Given the description of an element on the screen output the (x, y) to click on. 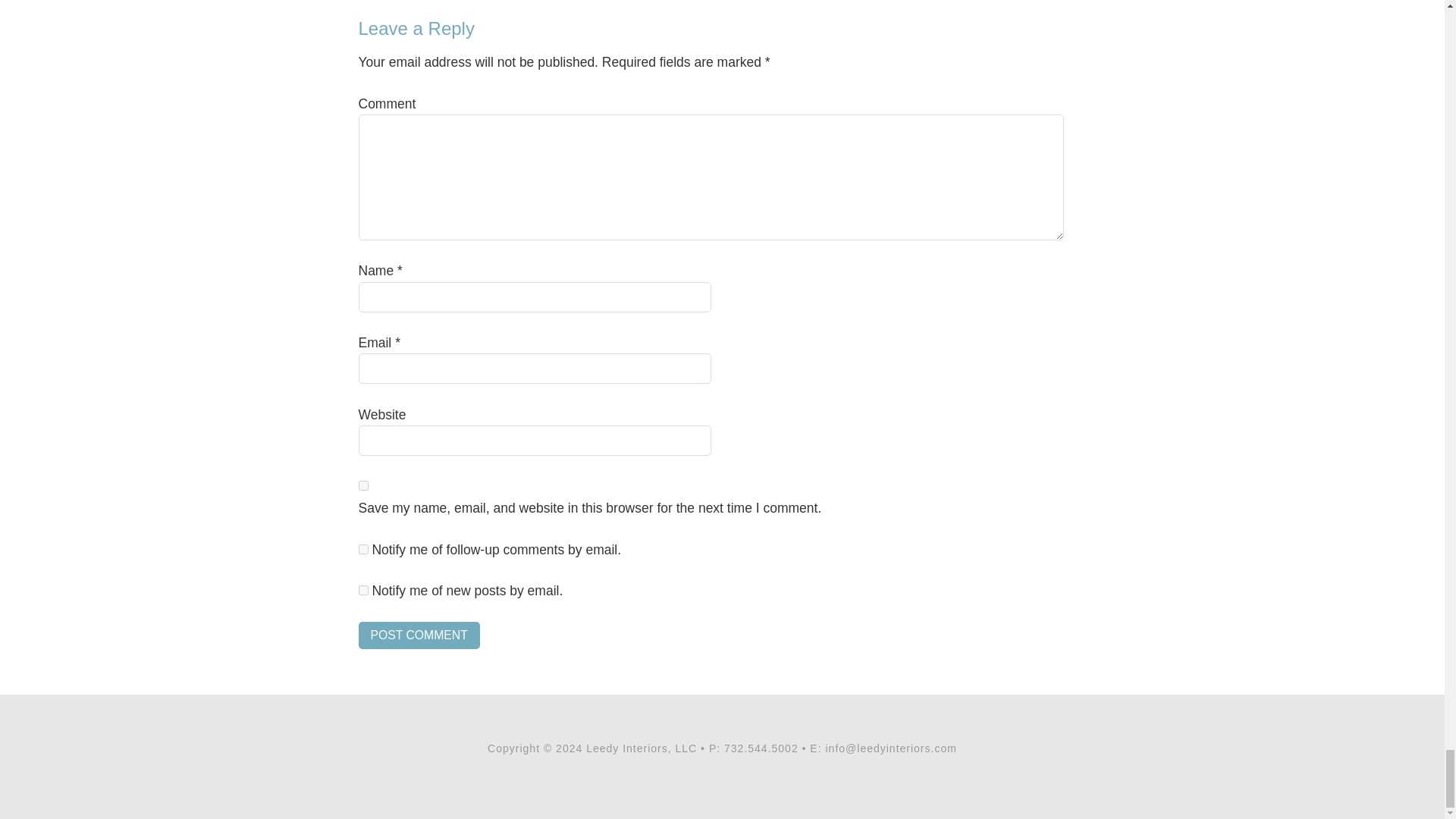
subscribe (363, 549)
Leedy Interiors, LLC (641, 748)
subscribe (363, 590)
Post Comment (418, 635)
Post Comment (418, 635)
yes (363, 485)
